Given the description of an element on the screen output the (x, y) to click on. 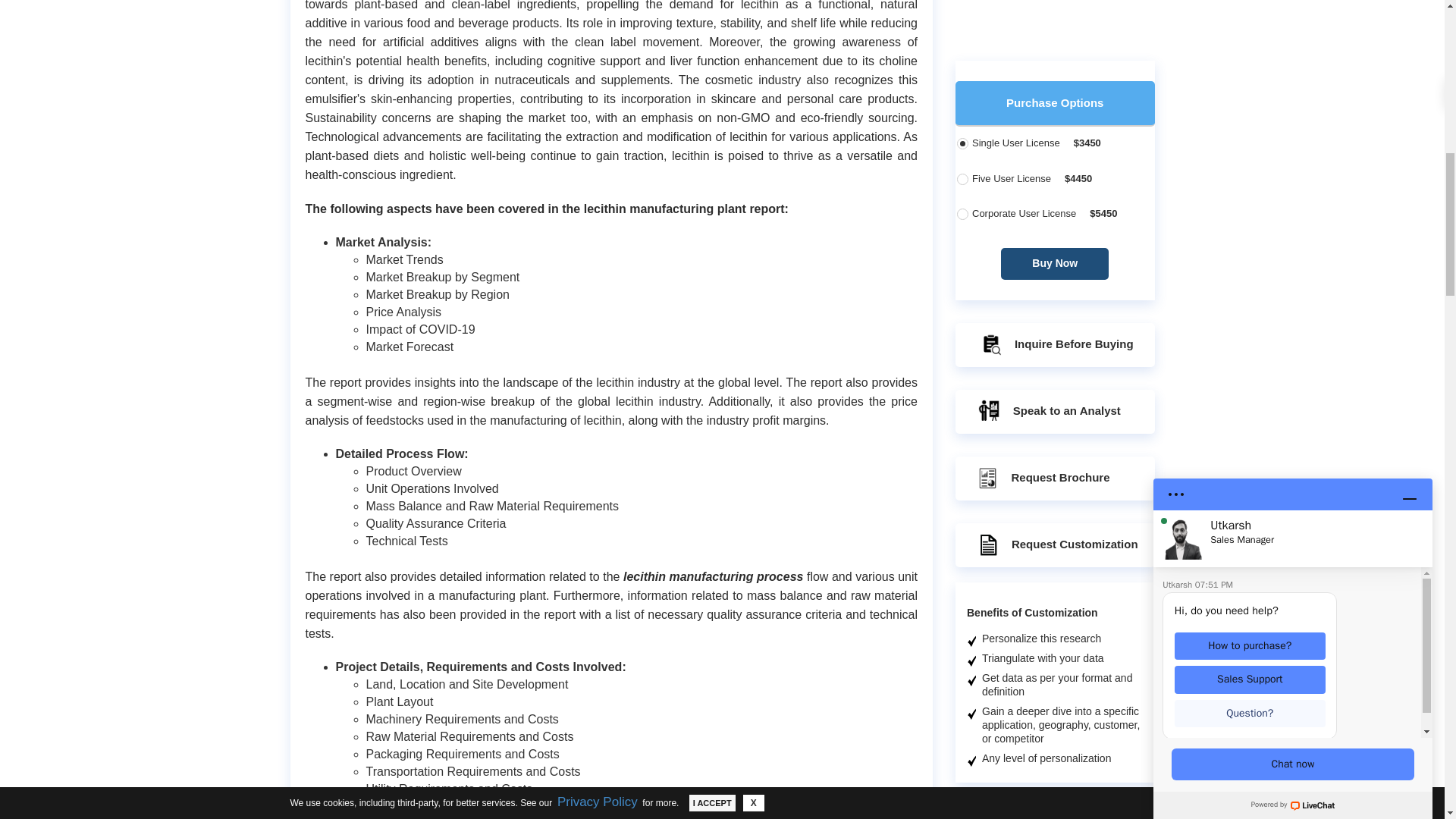
Know more (1081, 807)
